Given the description of an element on the screen output the (x, y) to click on. 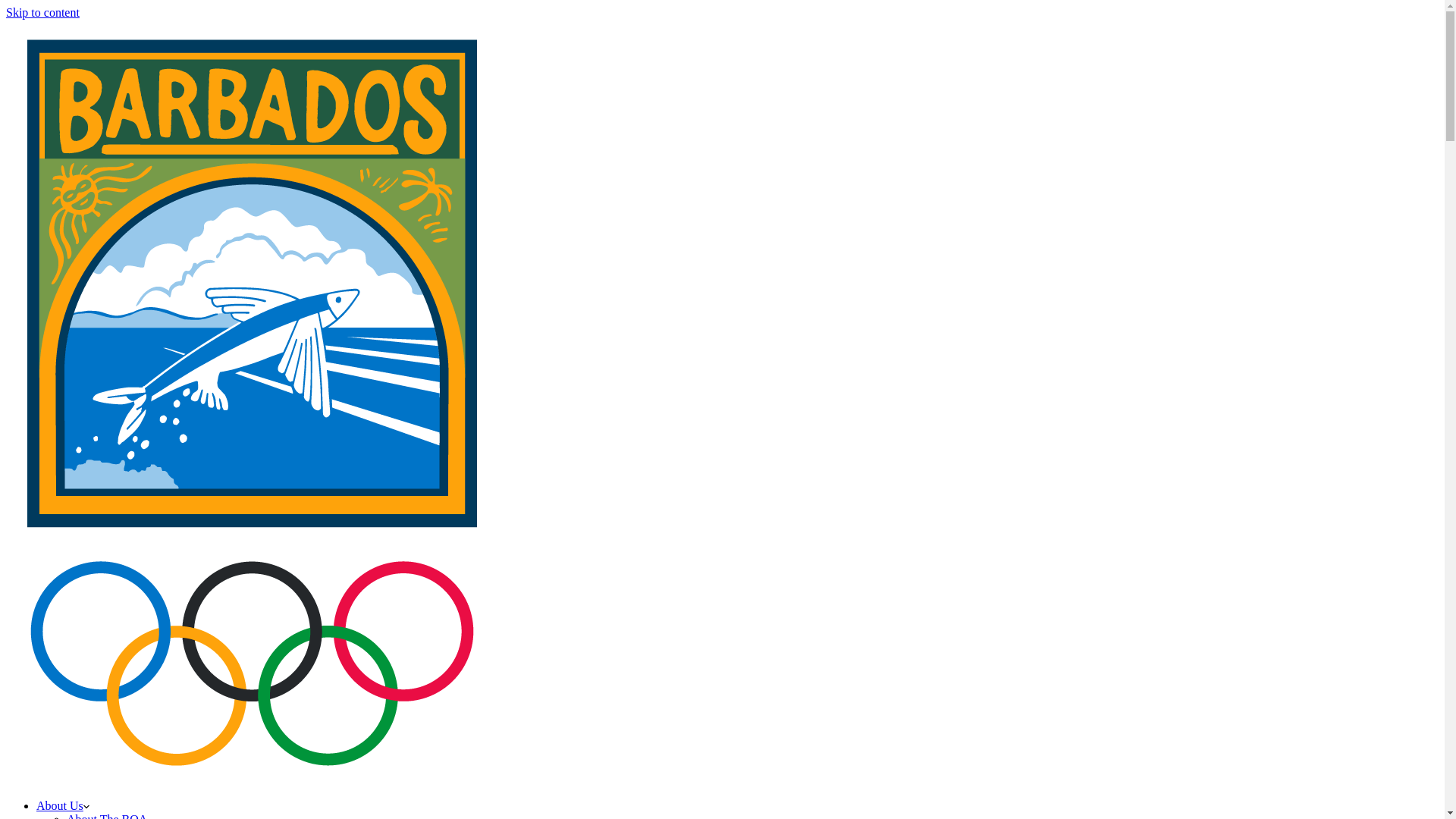
Skip to content Element type: text (42, 12)
About Us Element type: text (62, 805)
